Given the description of an element on the screen output the (x, y) to click on. 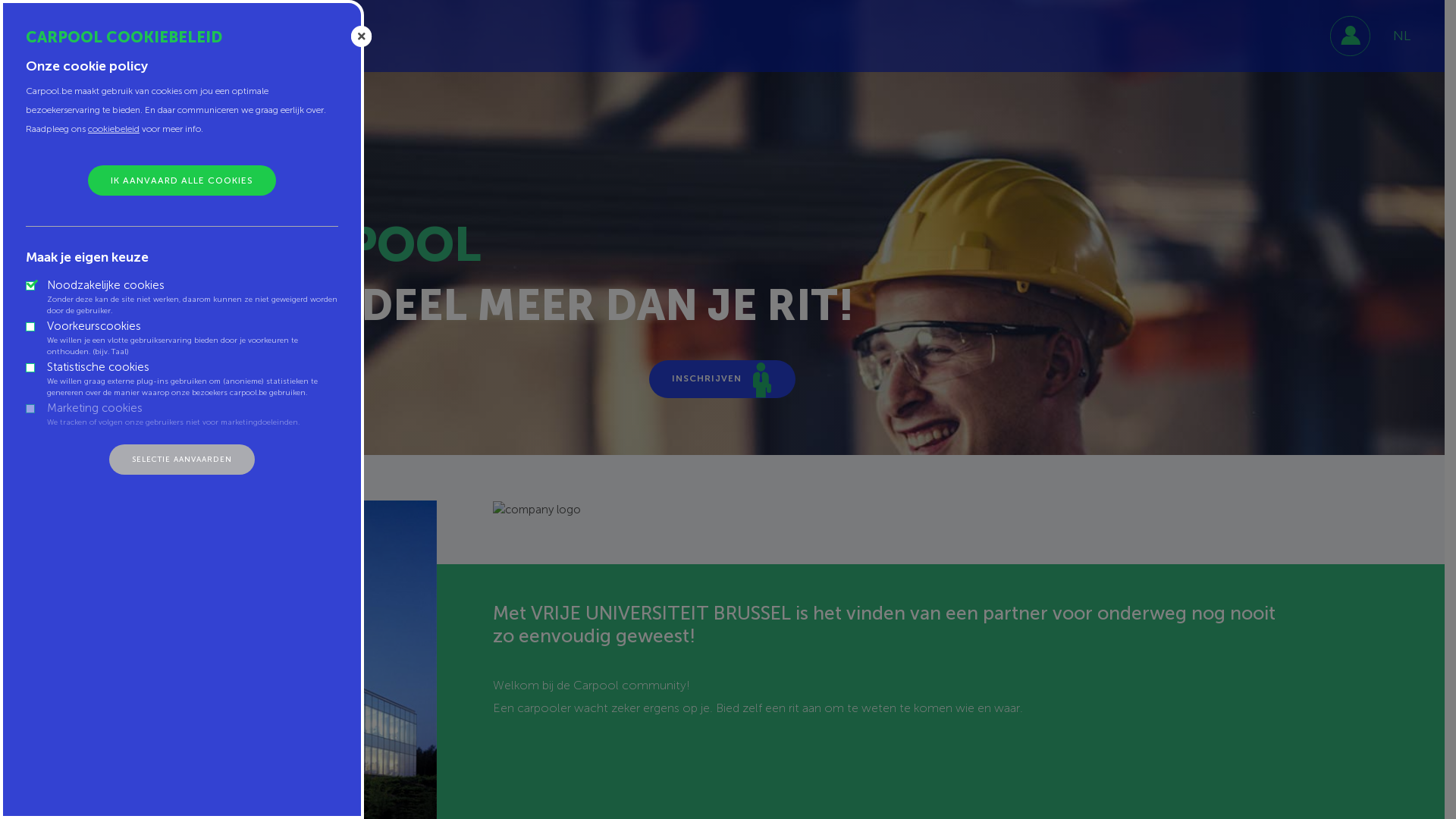
IK AANVAARD ALLE COOKIES Element type: text (181, 180)
NL Element type: text (1401, 35)
cookiebeleid Element type: text (113, 128)
SELECTIE AANVAARDEN Element type: text (181, 459)
